Given the description of an element on the screen output the (x, y) to click on. 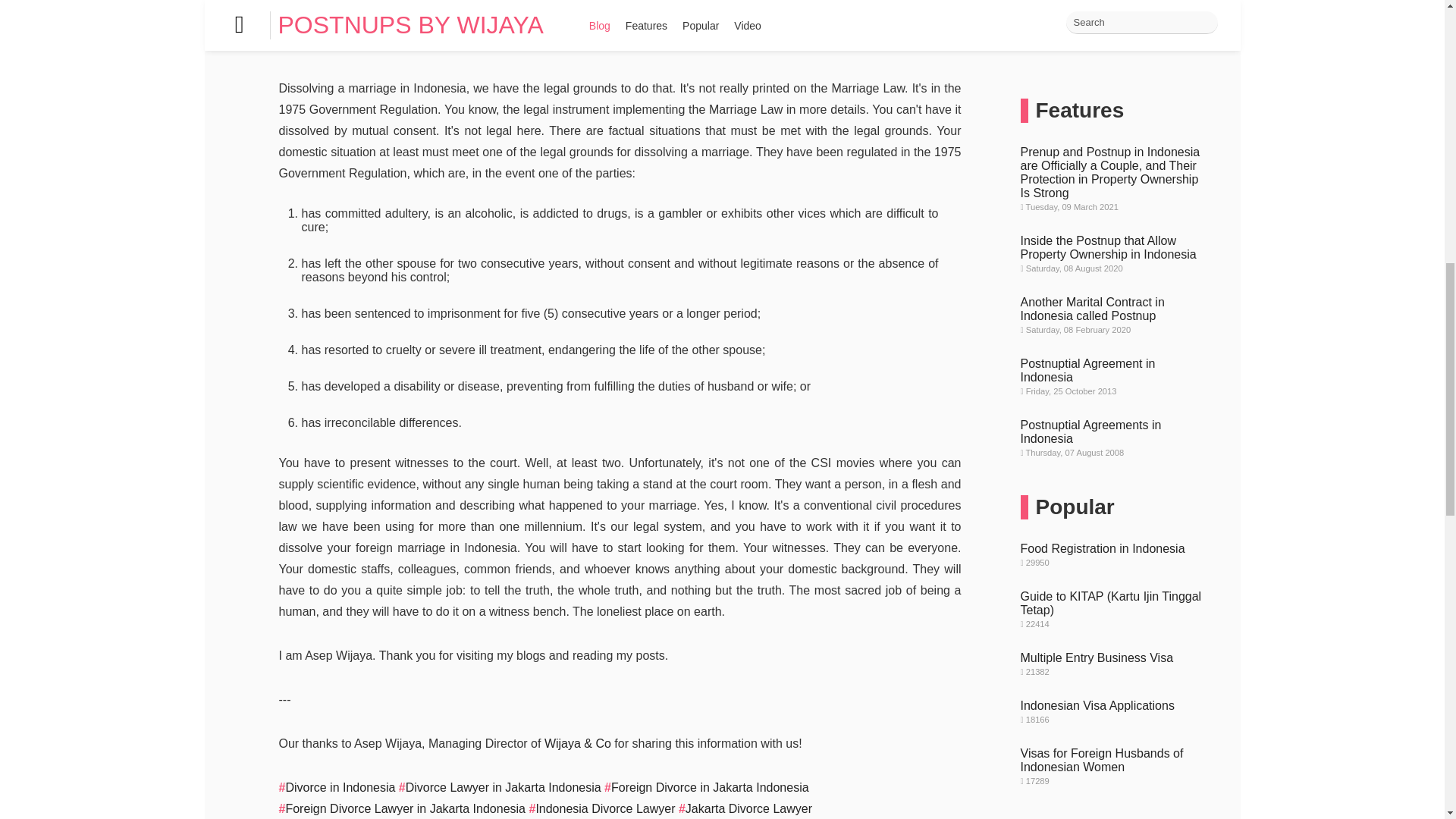
6 items tagged with Divorce Lawyer in Jakarta Indonesia (1098, 280)
6 items tagged with Marriage (1084, 301)
9 items tagged with Child Law in Indonesia (1133, 83)
10 items tagged with Child Custody (1050, 83)
6 items tagged with Divorce for Foreigners in Indonesia (1096, 168)
11 items tagged with Child (1031, 61)
6 items tagged with Divorce Law in Indonesia (1074, 232)
Divorce Lawyer in Jakarta Indonesia (499, 787)
Foreign Divorce in Jakarta Indonesia (706, 787)
6 items tagged with Out of Wedlock (1053, 344)
Jakarta Divorce Lawyer (745, 808)
6 items tagged with Divorce Attorney in Jakarta Indonesia (1100, 147)
Foreign Divorce Lawyer in Jakarta Indonesia (402, 808)
Divorce in Indonesia (337, 787)
